Given the description of an element on the screen output the (x, y) to click on. 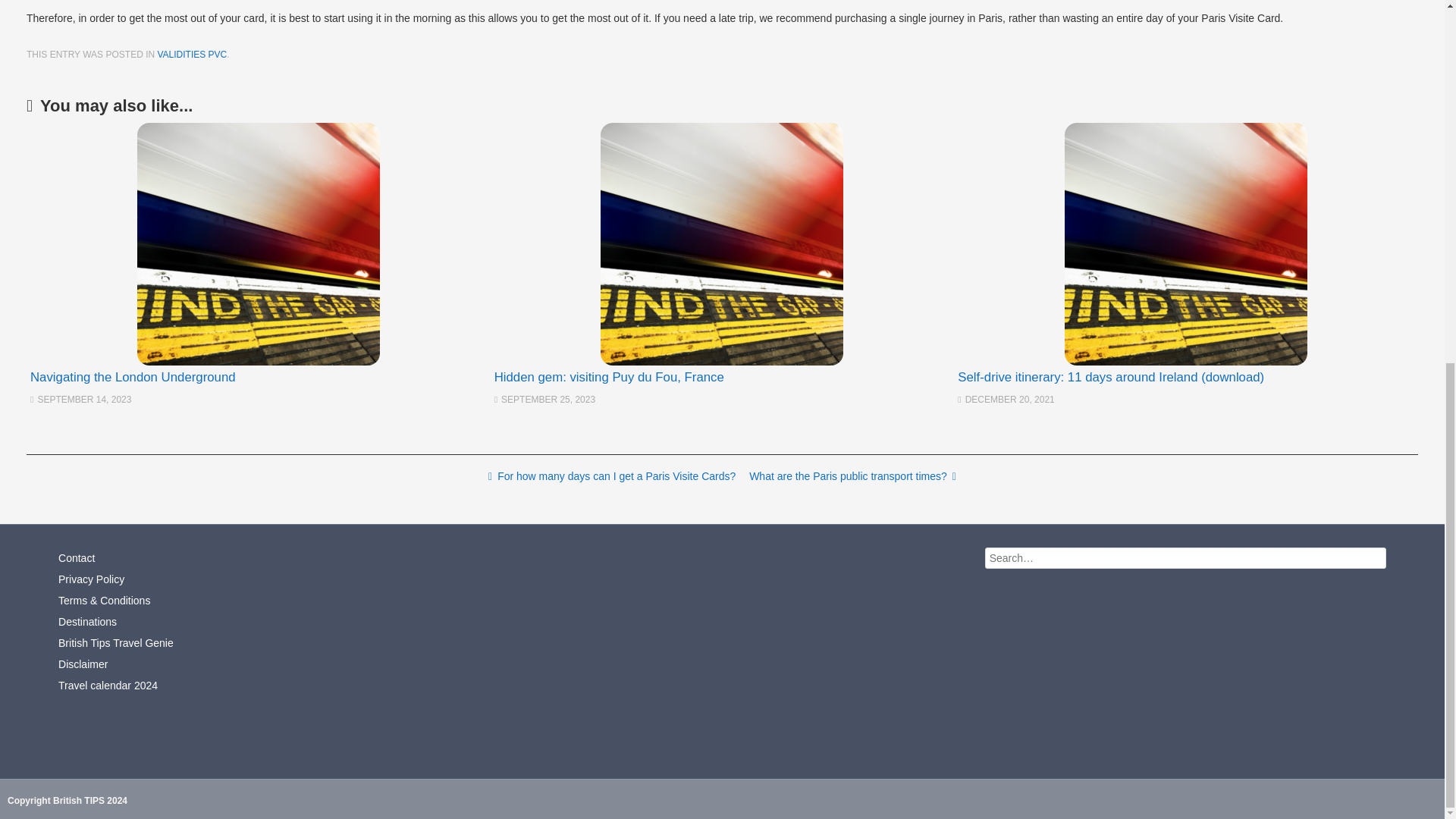
Hidden gem: visiting Puy du Fou, France (722, 243)
VALIDITIES PVC (192, 54)
Hidden gem: visiting Puy du Fou, France (609, 377)
Navigating the London Underground (258, 243)
Hidden gem: visiting Puy du Fou, France (609, 377)
Navigating the London Underground (132, 377)
Navigating the London Underground (132, 377)
